Given the description of an element on the screen output the (x, y) to click on. 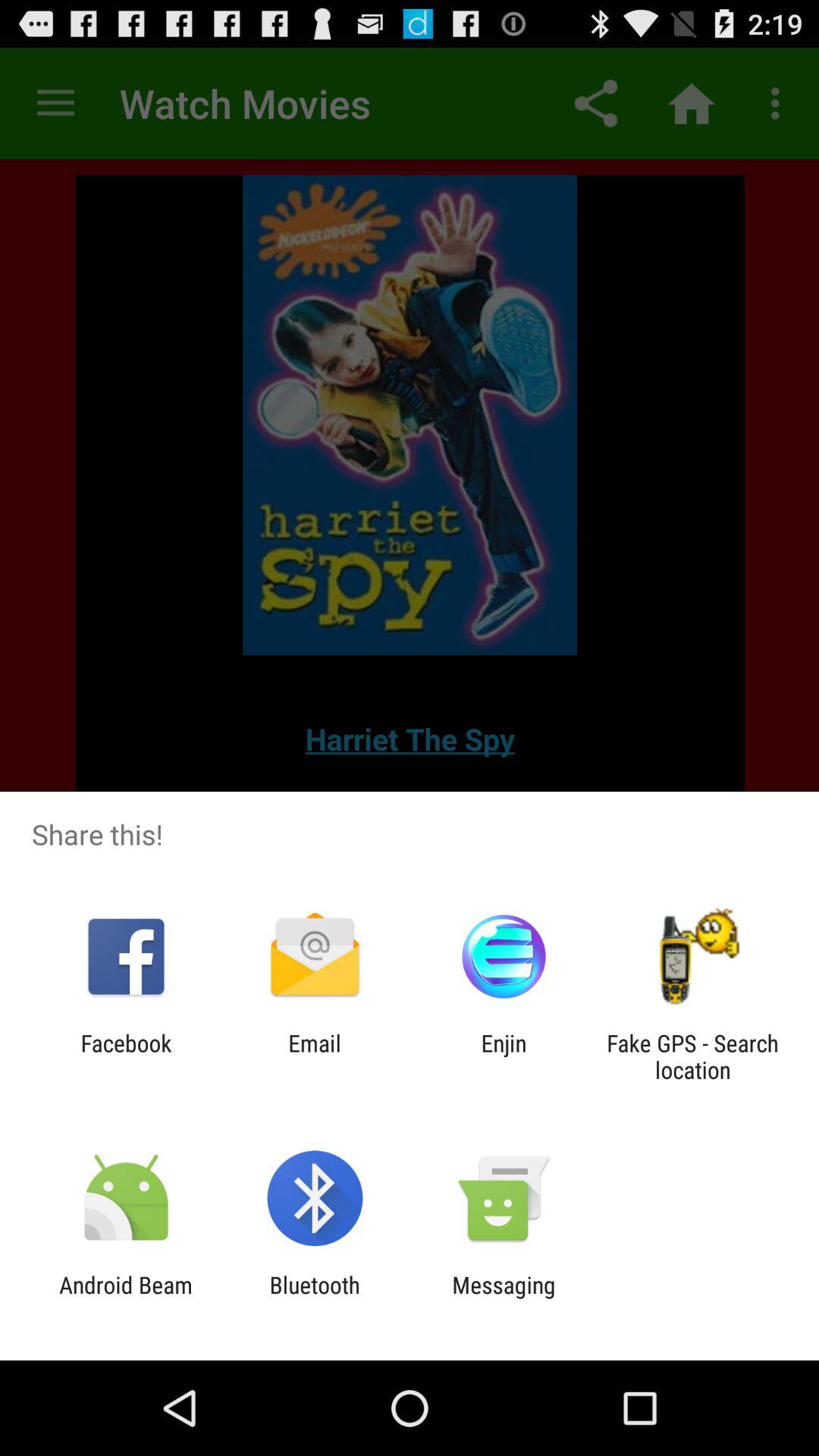
scroll until the bluetooth (314, 1298)
